Given the description of an element on the screen output the (x, y) to click on. 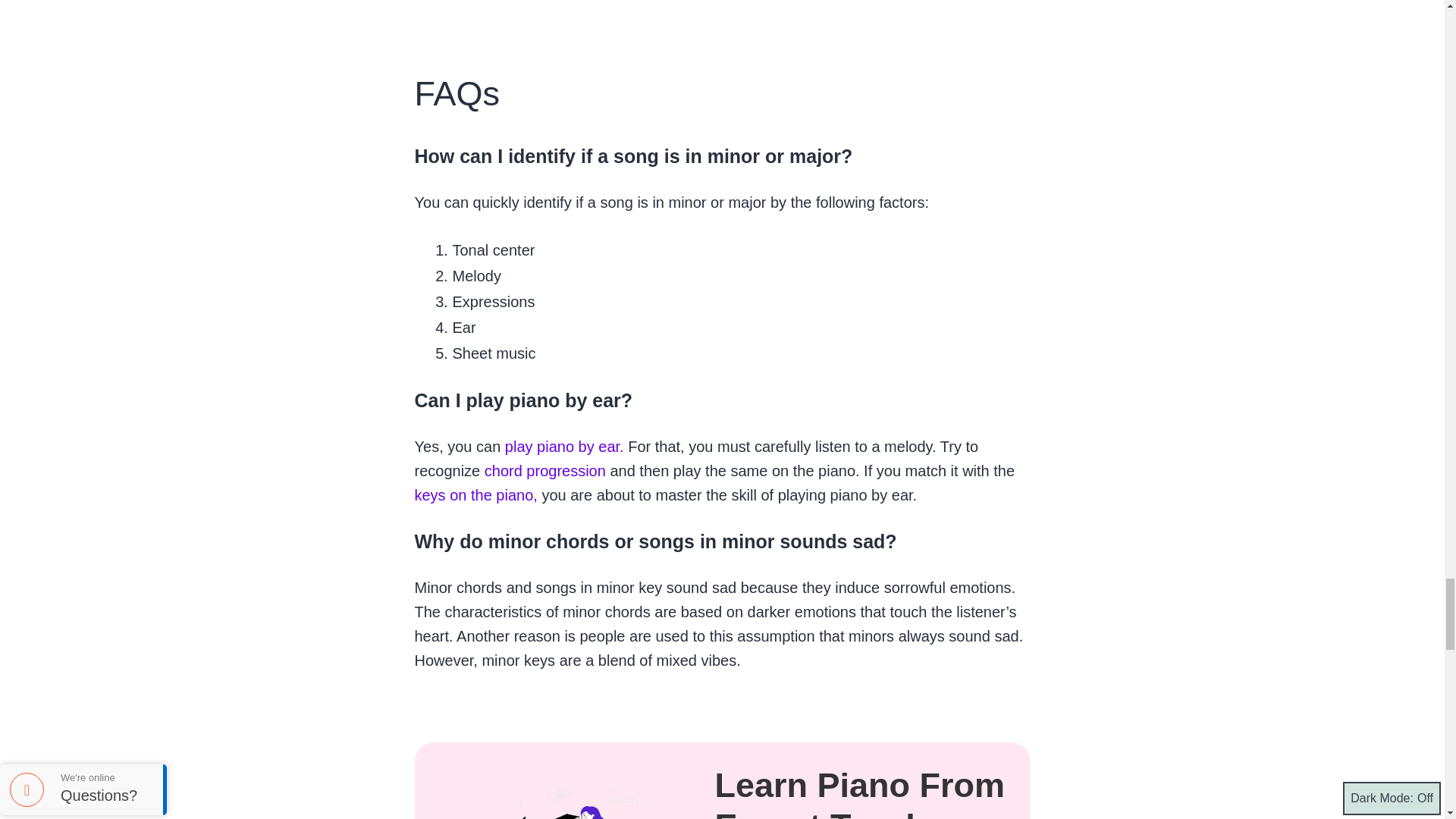
play piano by ear. (561, 446)
keys on the piano, (475, 494)
chord progression (542, 470)
